Given the description of an element on the screen output the (x, y) to click on. 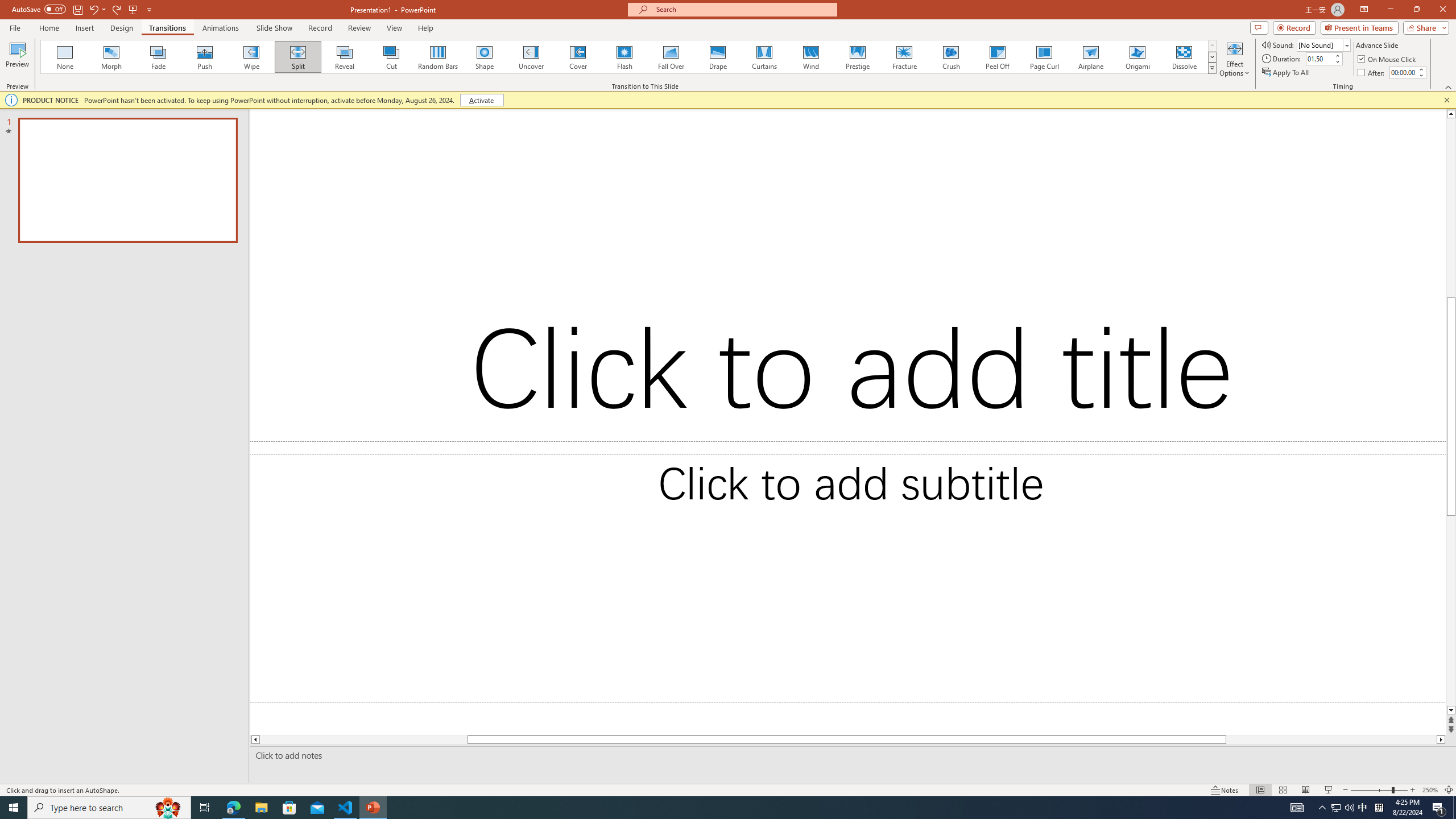
Activate (481, 100)
Row Down (1212, 56)
Morph (111, 56)
Sound (1324, 44)
Dissolve (1183, 56)
Shape (484, 56)
Duration (1319, 58)
Airplane (1090, 56)
